Given the description of an element on the screen output the (x, y) to click on. 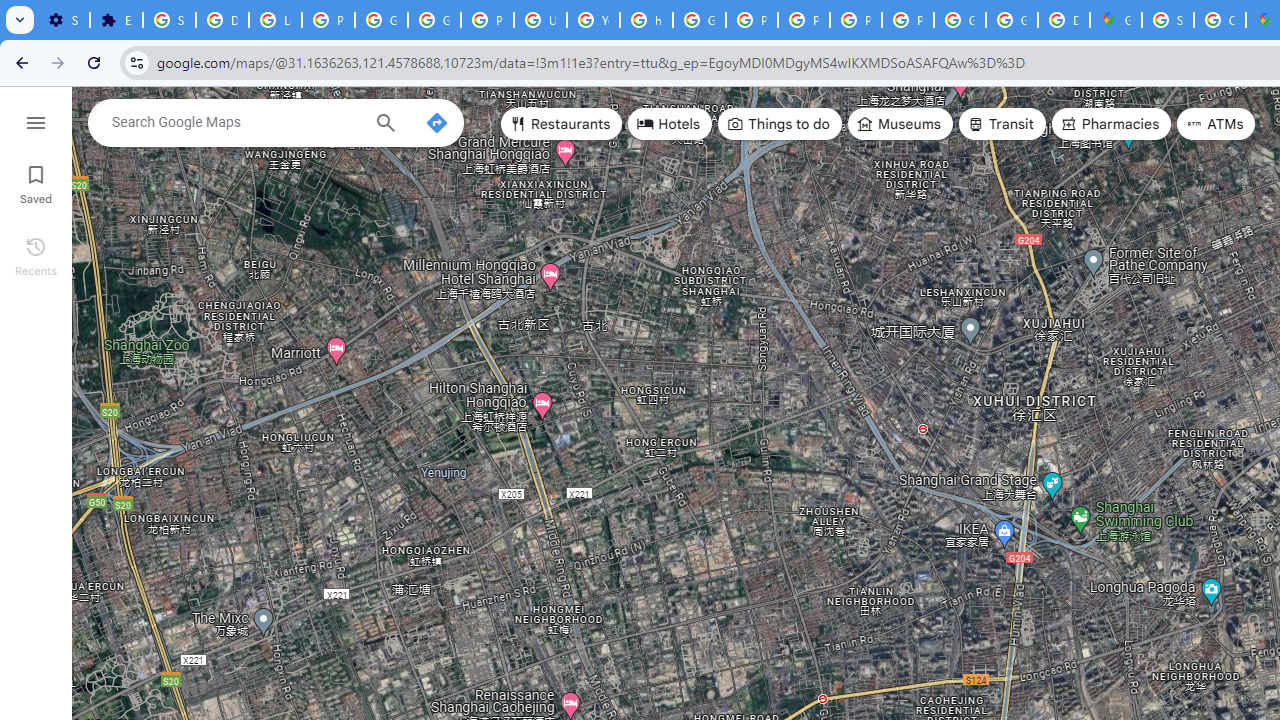
Delete photos & videos - Computer - Google Photos Help (222, 20)
Museums (900, 124)
Google Account Help (381, 20)
Saved (35, 182)
Privacy Help Center - Policies Help (751, 20)
YouTube (593, 20)
